Given the description of an element on the screen output the (x, y) to click on. 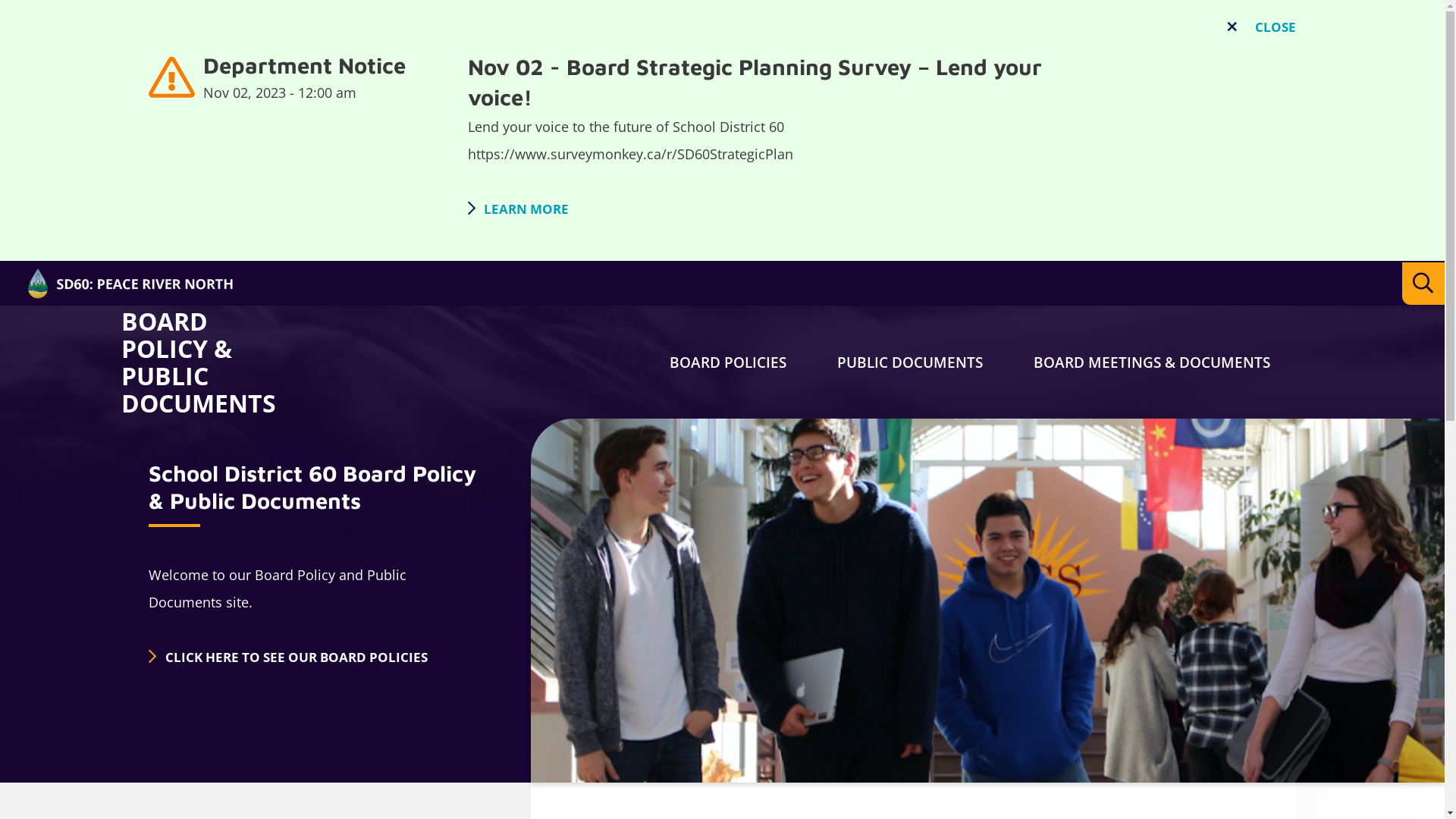
BOARD POLICIES Element type: text (727, 362)
BOARD MEETINGS & DOCUMENTS Element type: text (1151, 362)
CLOSE Element type: text (1264, 26)
BOARD POLICY & PUBLIC DOCUMENTS Element type: text (206, 362)
LEARN MORE Element type: text (517, 208)
PUBLIC DOCUMENTS Element type: text (909, 362)
CLICK HERE TO SEE OUR BOARD POLICIES Element type: text (311, 675)
